Given the description of an element on the screen output the (x, y) to click on. 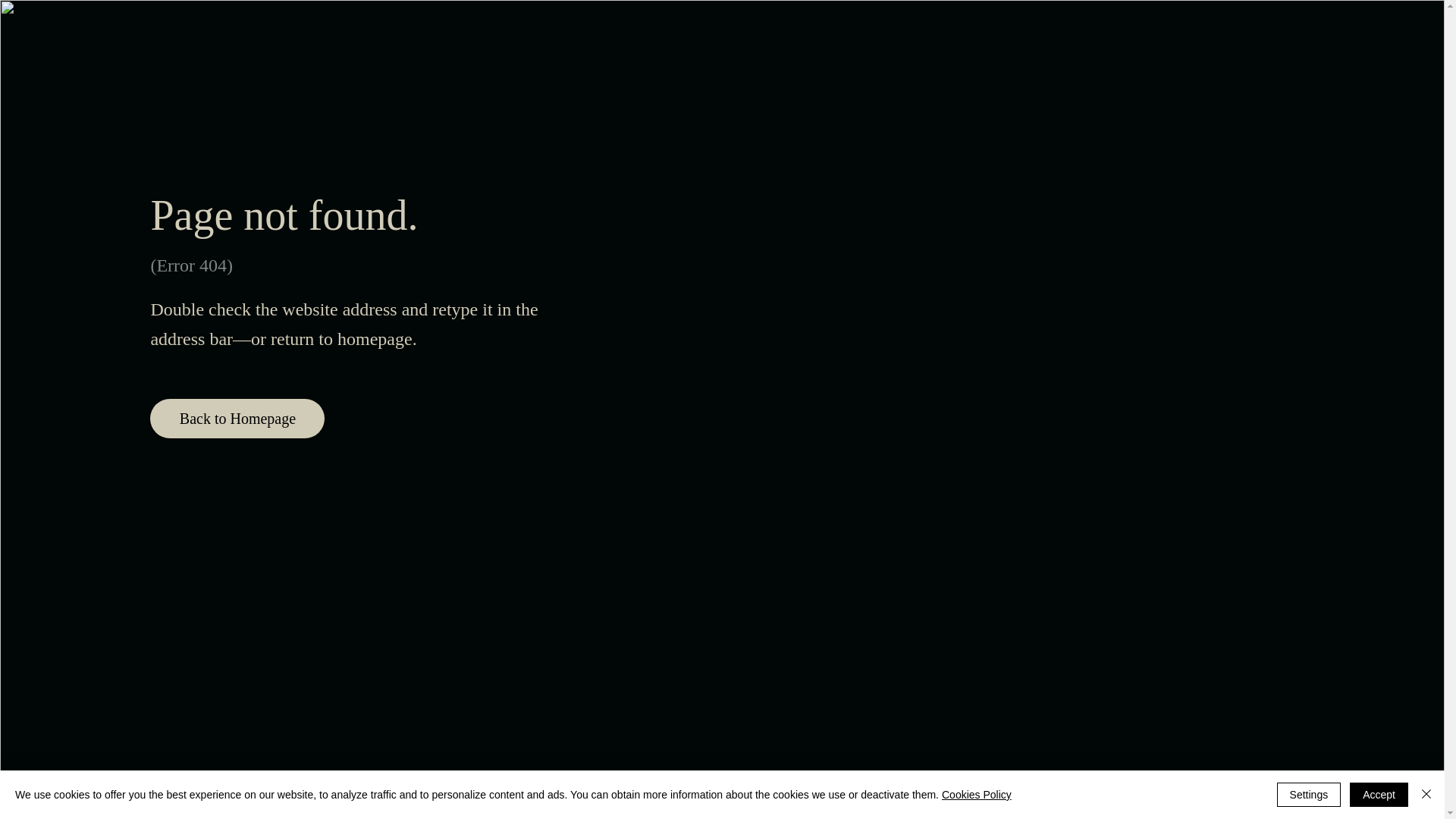
Settings Element type: text (1309, 794)
Back to Homepage Element type: text (237, 418)
Cookies Policy Element type: text (976, 794)
Accept Element type: text (1378, 794)
